Given the description of an element on the screen output the (x, y) to click on. 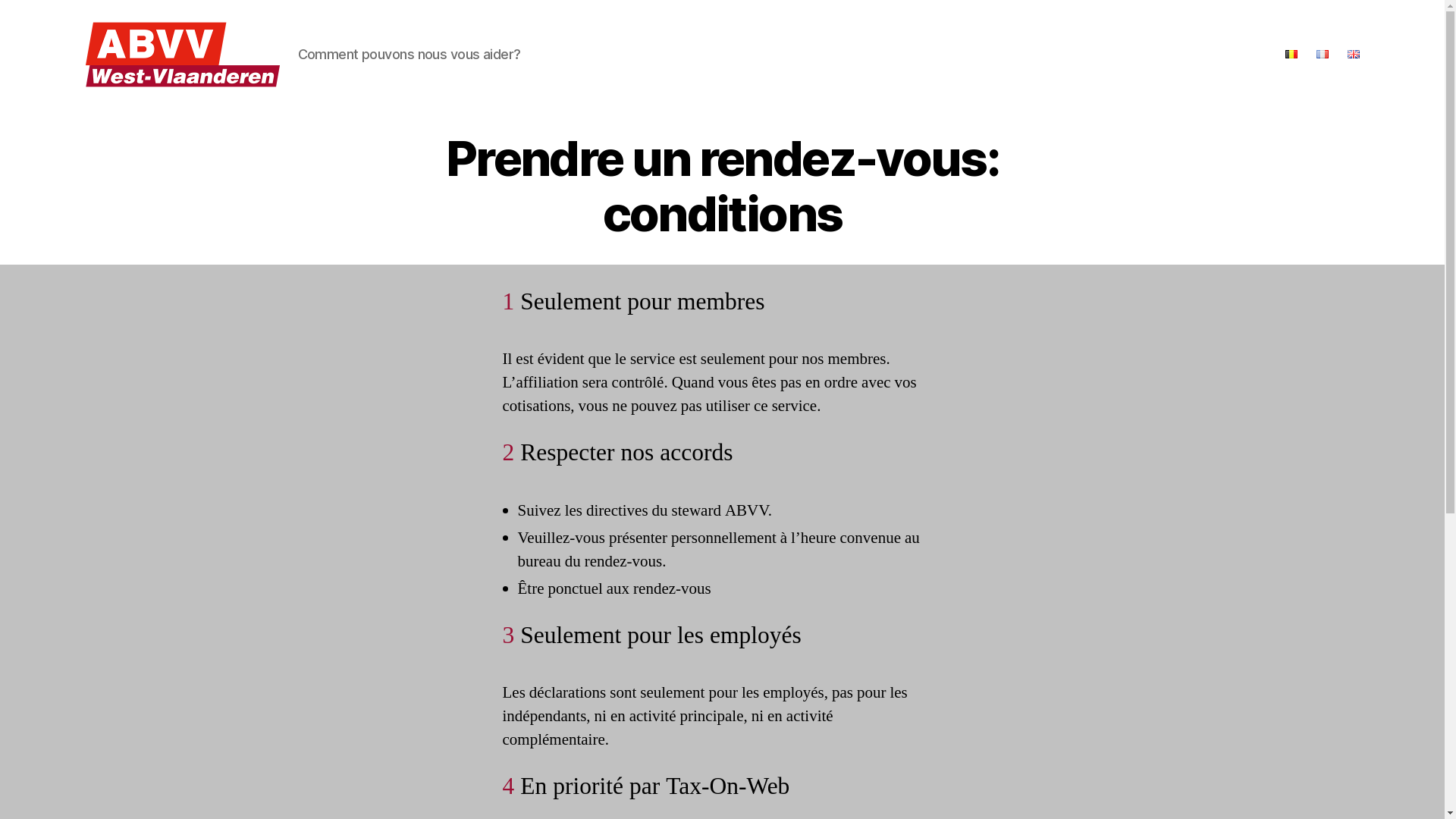
Nederlands Element type: hover (1290, 54)
English Element type: hover (1352, 54)
